Given the description of an element on the screen output the (x, y) to click on. 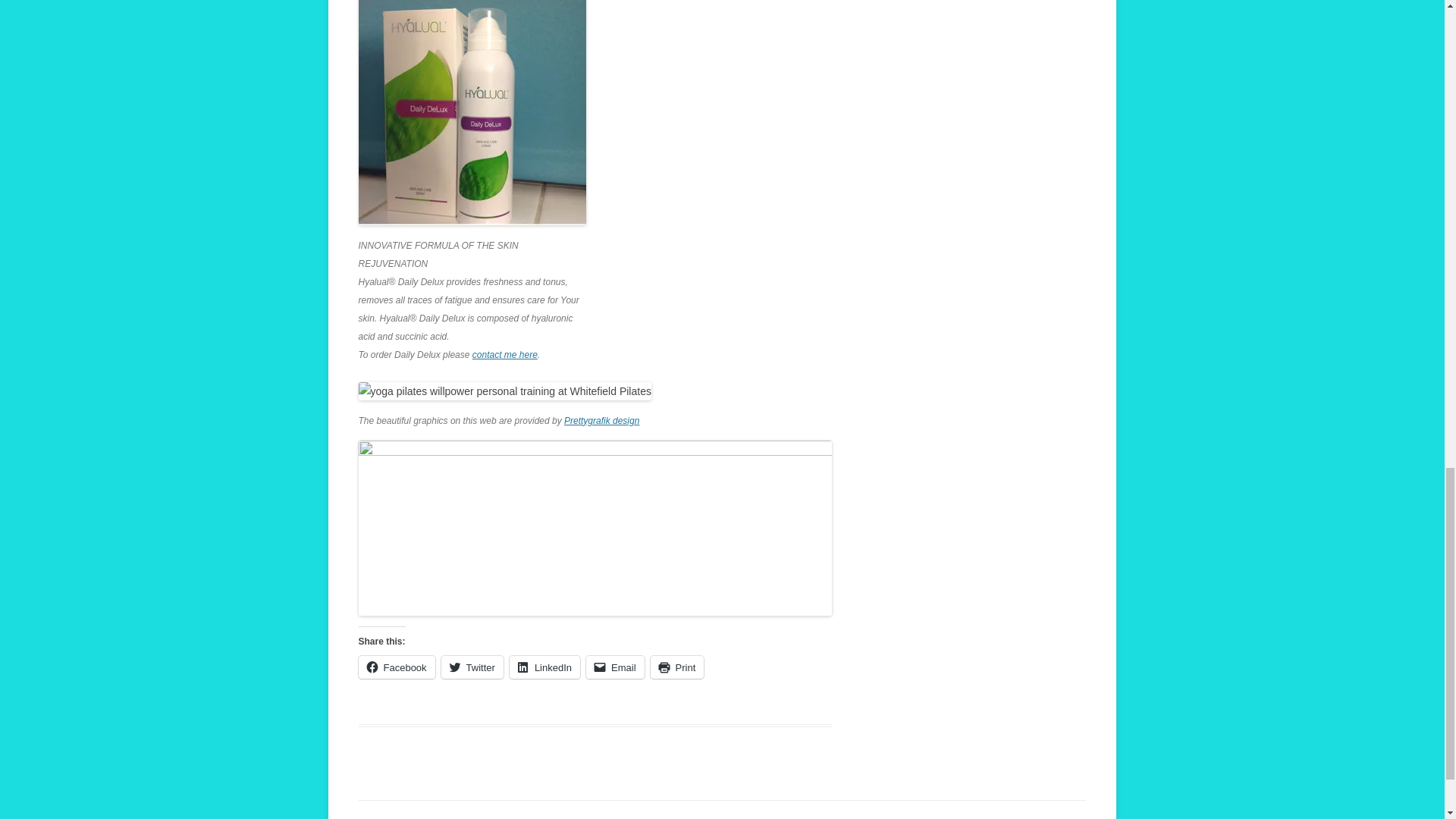
Click to share on Facebook (395, 667)
Prettygrafik design (601, 420)
Click to share on LinkedIn (544, 667)
Click to print (677, 667)
Click to share on Twitter (472, 667)
Email (615, 667)
Twitter (472, 667)
Print (677, 667)
Click to email a link to a friend (615, 667)
contact me here (504, 354)
